Given the description of an element on the screen output the (x, y) to click on. 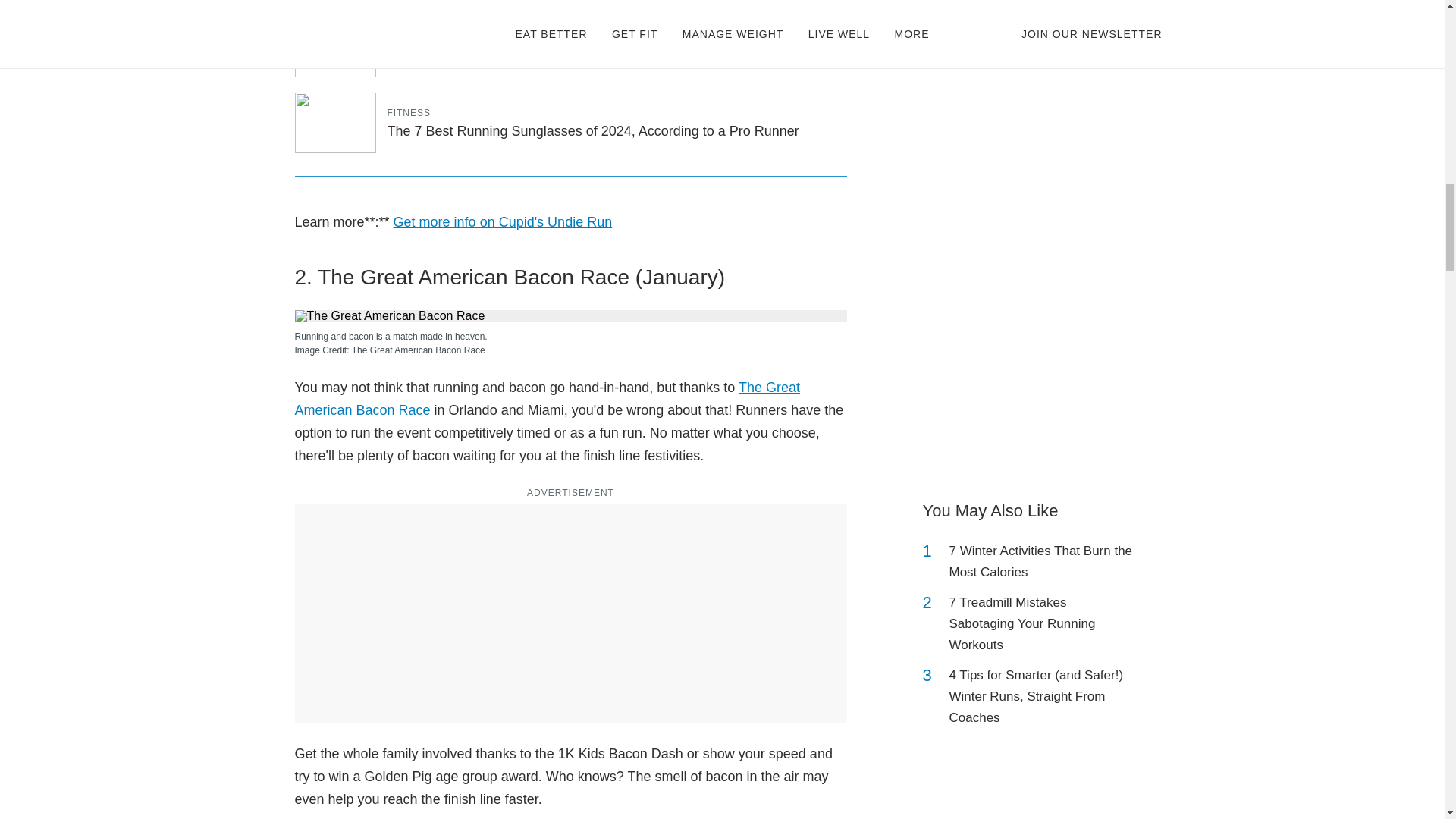
Get more info on Cupid's Undie Run (502, 222)
9 Nutrition Mistakes That Can Derail Your Marathon Training (569, 55)
The Great American Bacon Race (546, 398)
7 Winter Activities That Burn the Most Calories (1042, 561)
Image Credit: The Great American Bacon Race (569, 350)
7 Treadmill Mistakes Sabotaging Your Running Workouts (1042, 624)
